Given the description of an element on the screen output the (x, y) to click on. 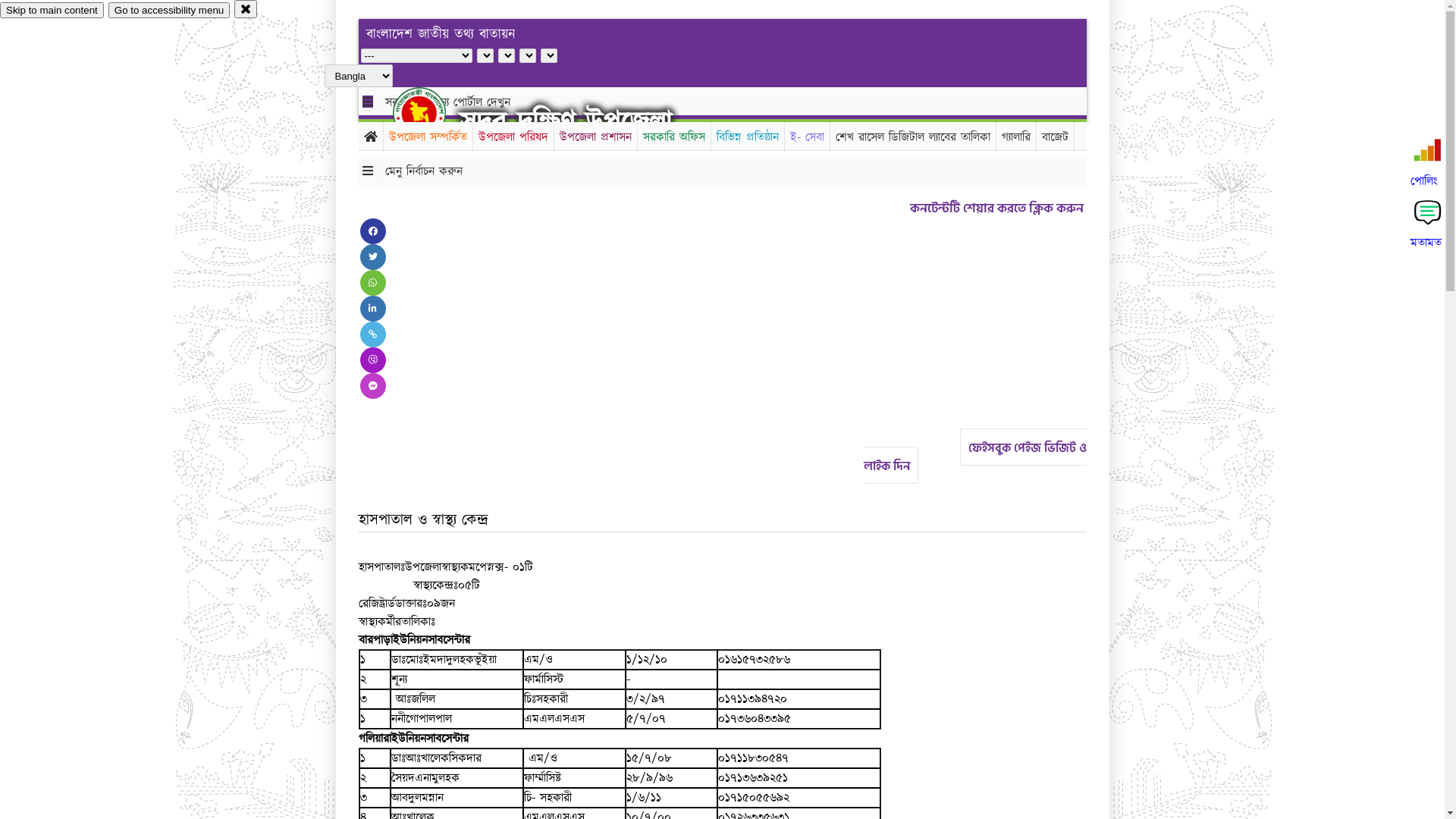

                
             Element type: hover (431, 112)
Skip to main content Element type: text (51, 10)
Go to accessibility menu Element type: text (168, 10)
close Element type: hover (245, 9)
